Given the description of an element on the screen output the (x, y) to click on. 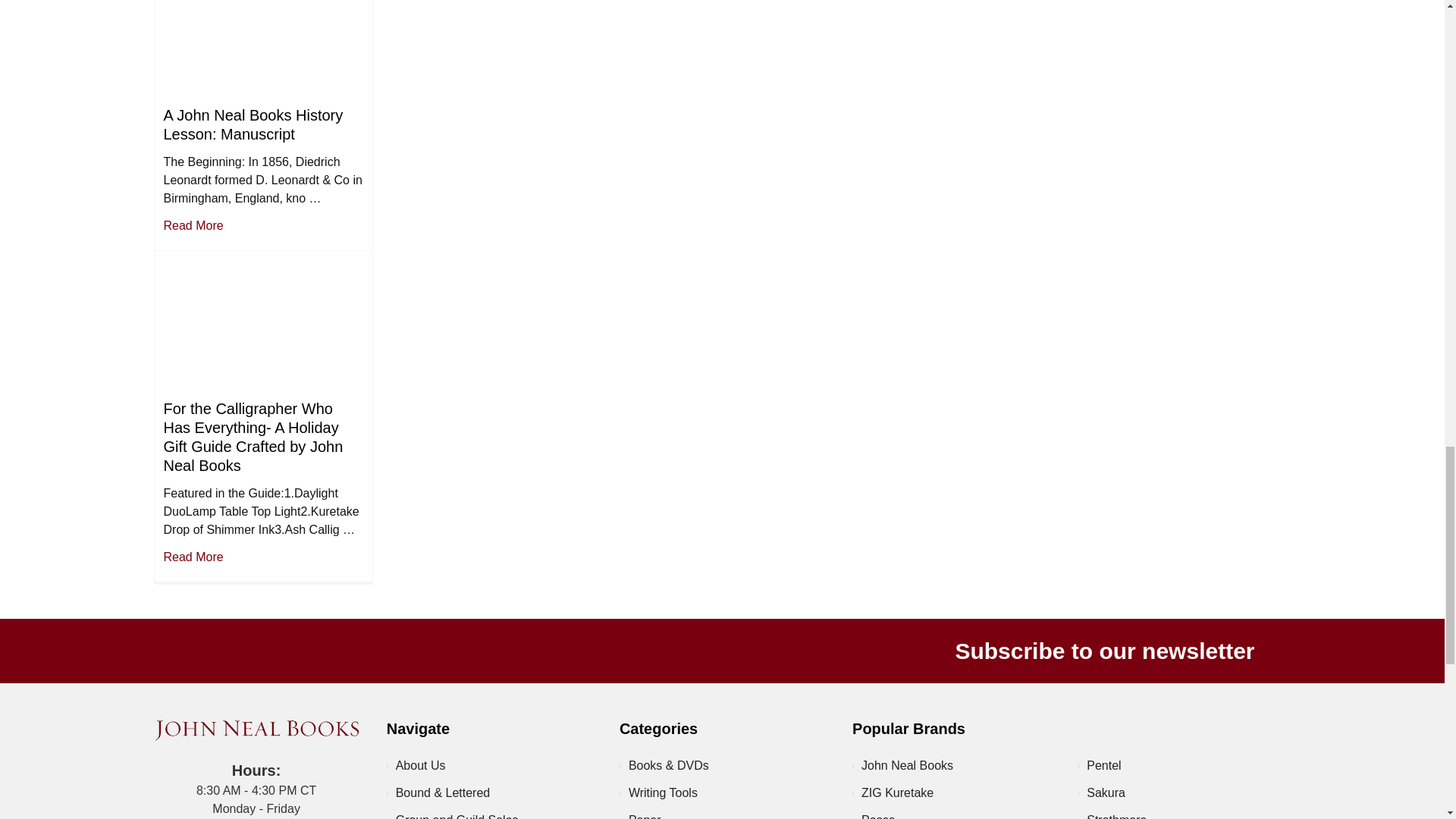
A John Neal Books History Lesson: Manuscript (262, 48)
